Given the description of an element on the screen output the (x, y) to click on. 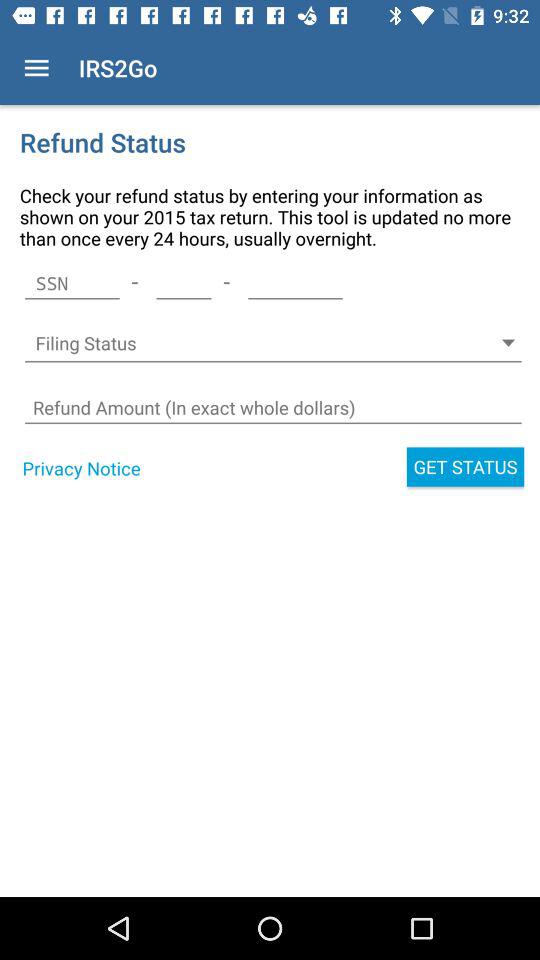
refund amount (272, 408)
